Given the description of an element on the screen output the (x, y) to click on. 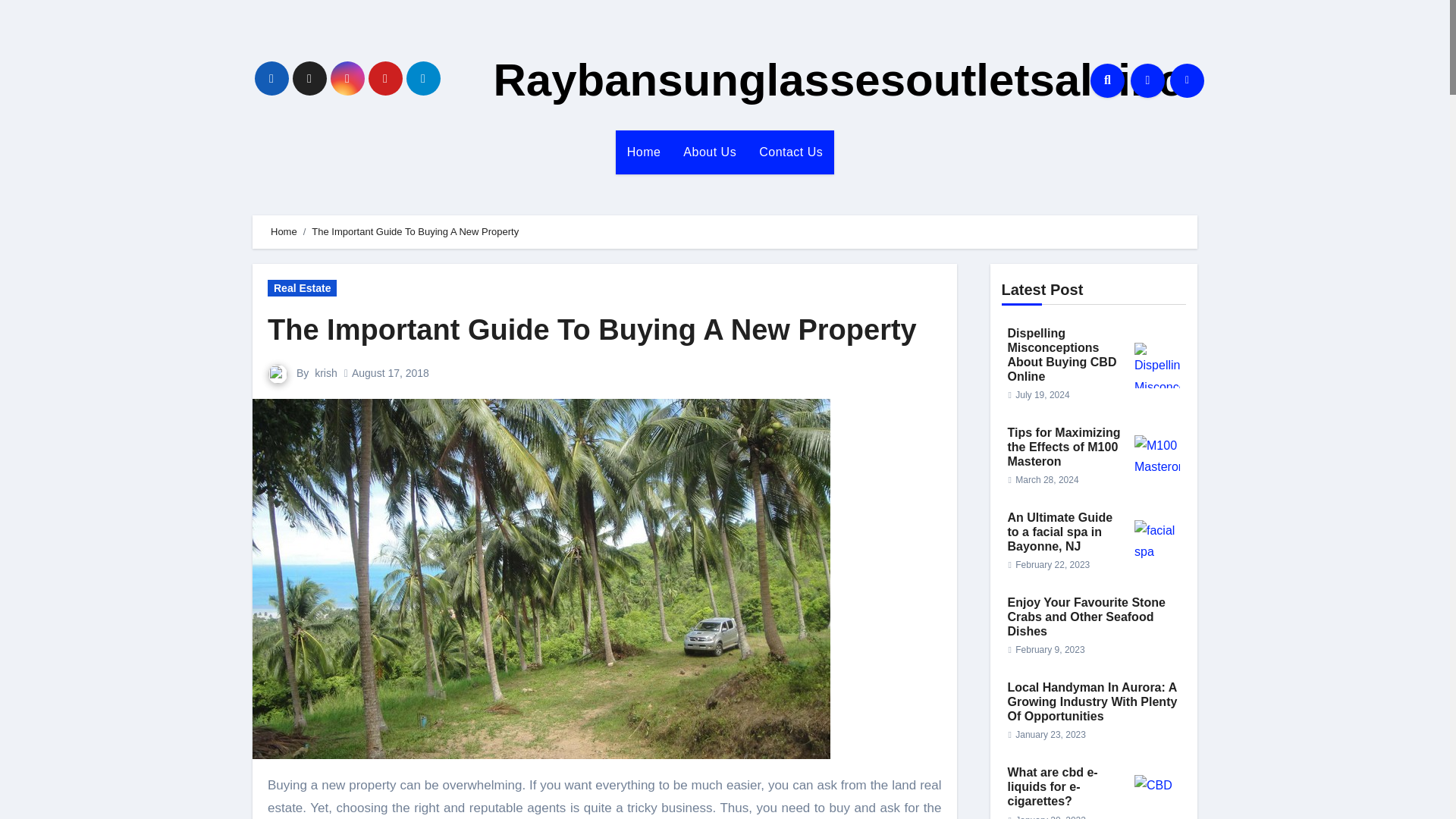
About Us (709, 152)
Contact Us (791, 152)
The Important Guide To Buying A New Property (592, 329)
Home (283, 231)
August 17, 2018 (390, 372)
Permalink to: The Important Guide To Buying A New Property (592, 329)
Real Estate (301, 288)
krish (325, 372)
Home (643, 152)
Raybansunglassesoutletsaleinc (837, 79)
